Given the description of an element on the screen output the (x, y) to click on. 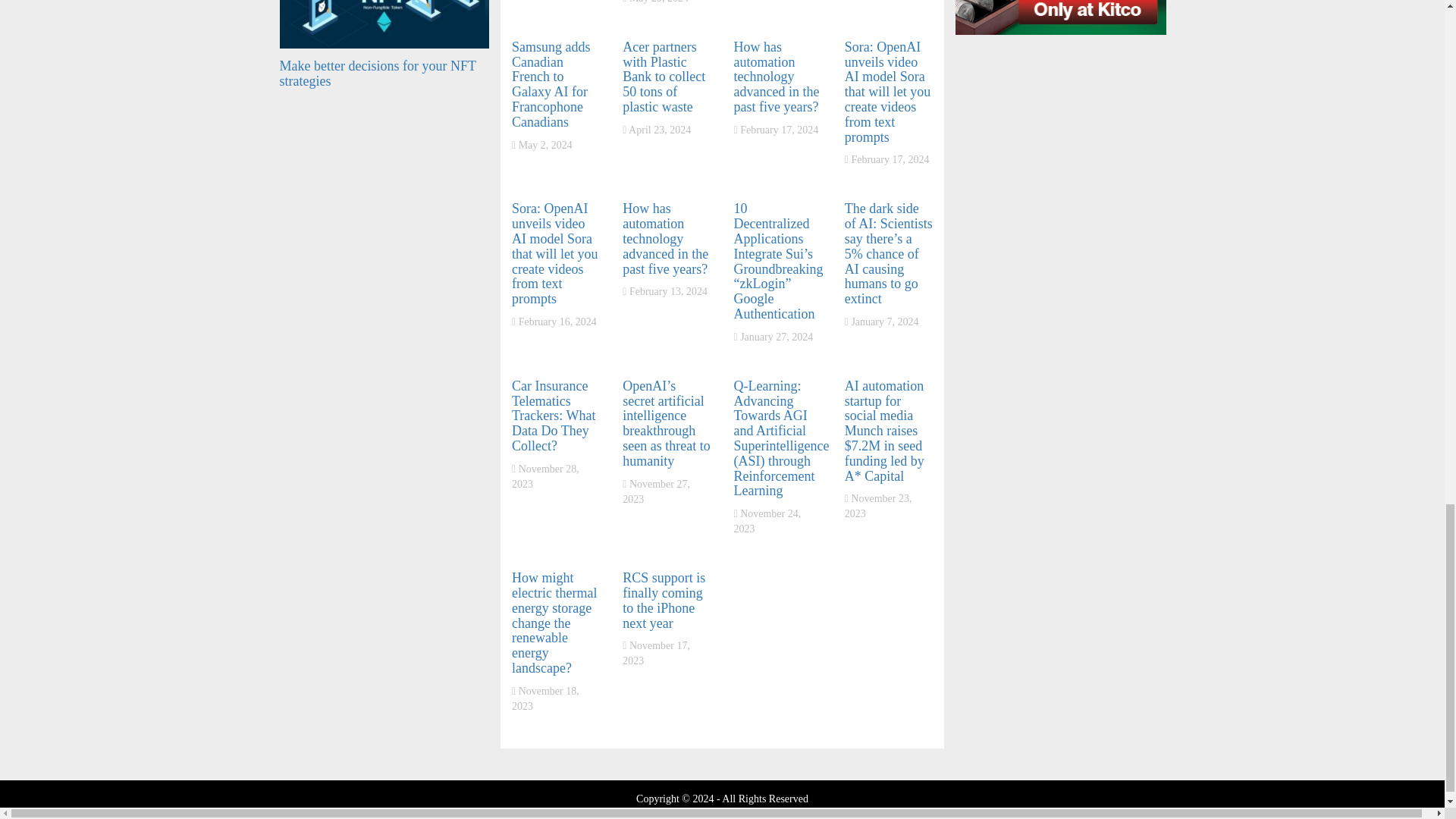
Make better decisions for your NFT strategies (377, 73)
